Given the description of an element on the screen output the (x, y) to click on. 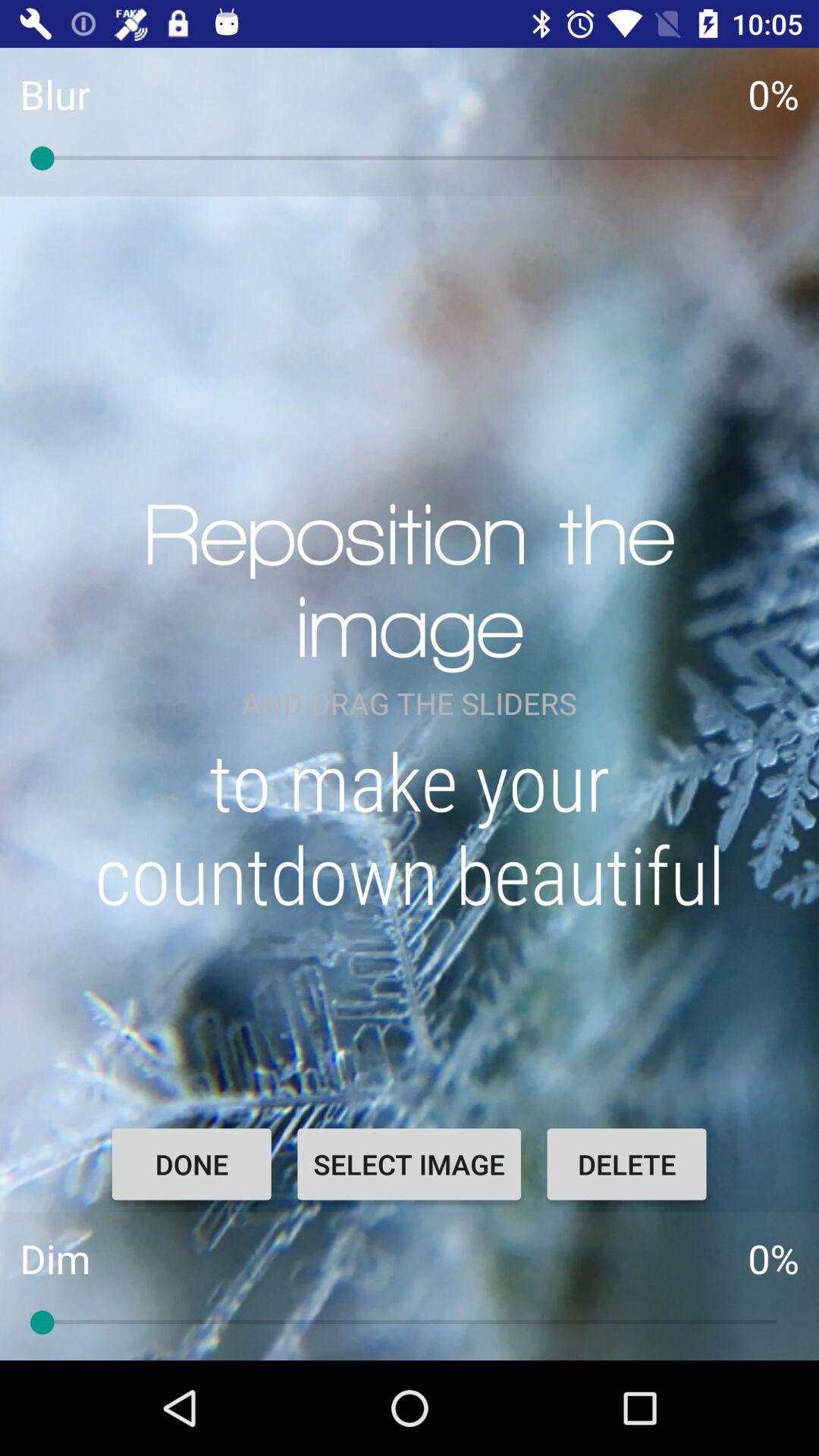
turn on select image (408, 1164)
